Given the description of an element on the screen output the (x, y) to click on. 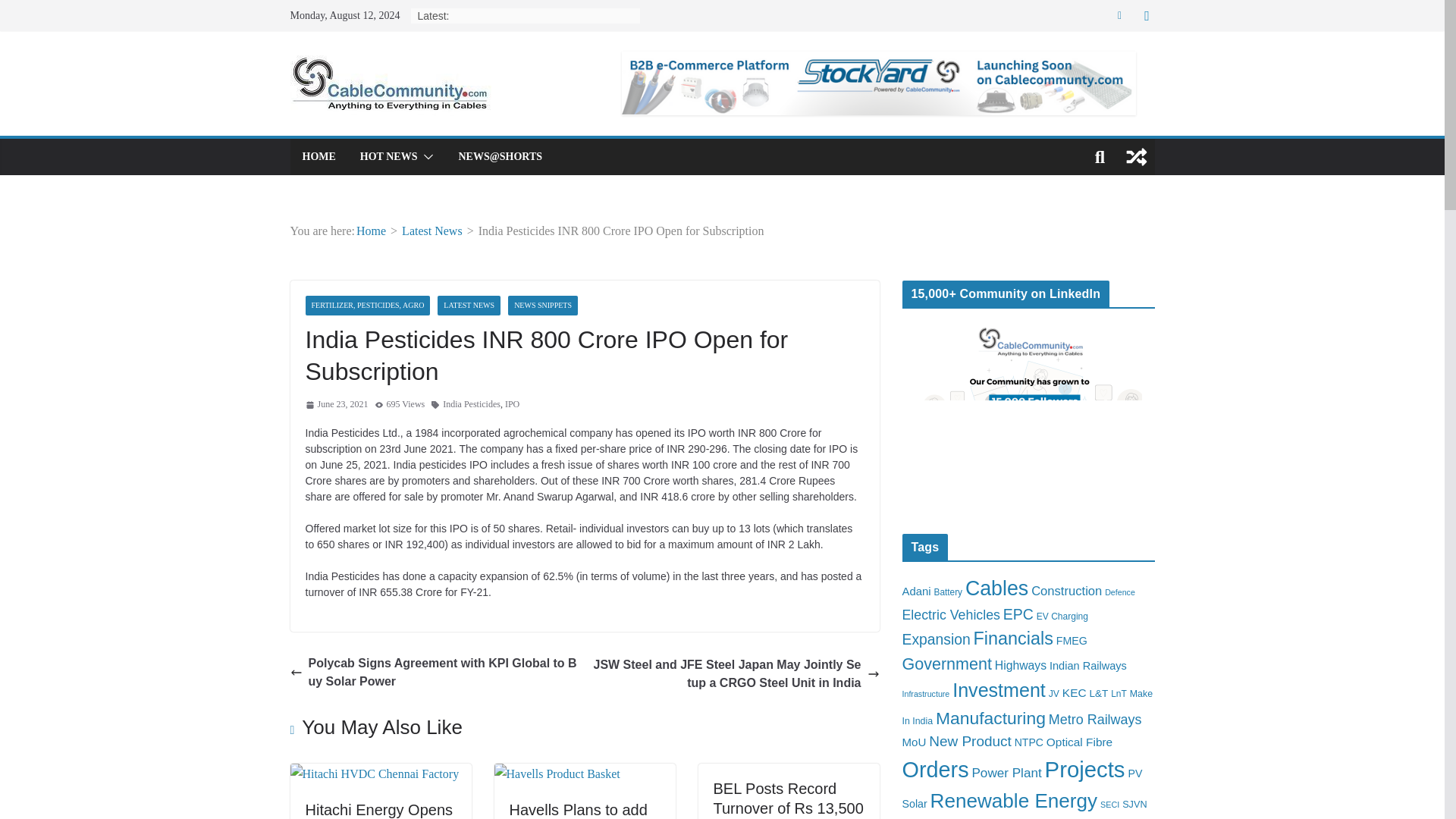
Polycab Signs Agreement with KPI Global to Buy Solar Power (432, 672)
View a random post (1136, 156)
FERTILIZER, PESTICIDES, AGRO (366, 305)
India Pesticides (471, 404)
Latest News (432, 230)
HOT NEWS (388, 156)
8:11 am (336, 404)
LATEST NEWS (469, 305)
NEWS SNIPPETS (543, 305)
HOME (317, 156)
